Given the description of an element on the screen output the (x, y) to click on. 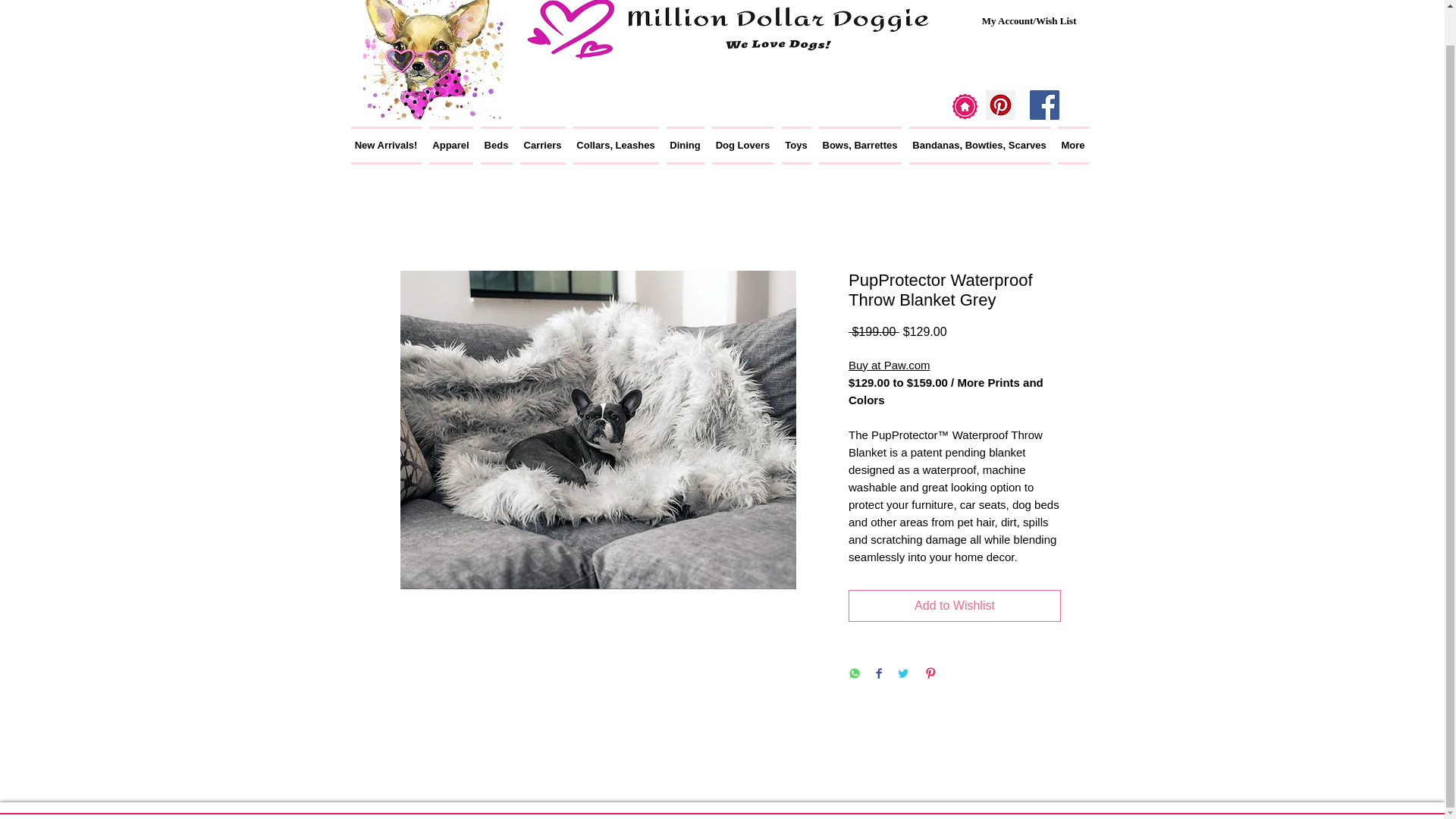
New Arrivals! (387, 145)
We Love Dogs!! (432, 59)
